Given the description of an element on the screen output the (x, y) to click on. 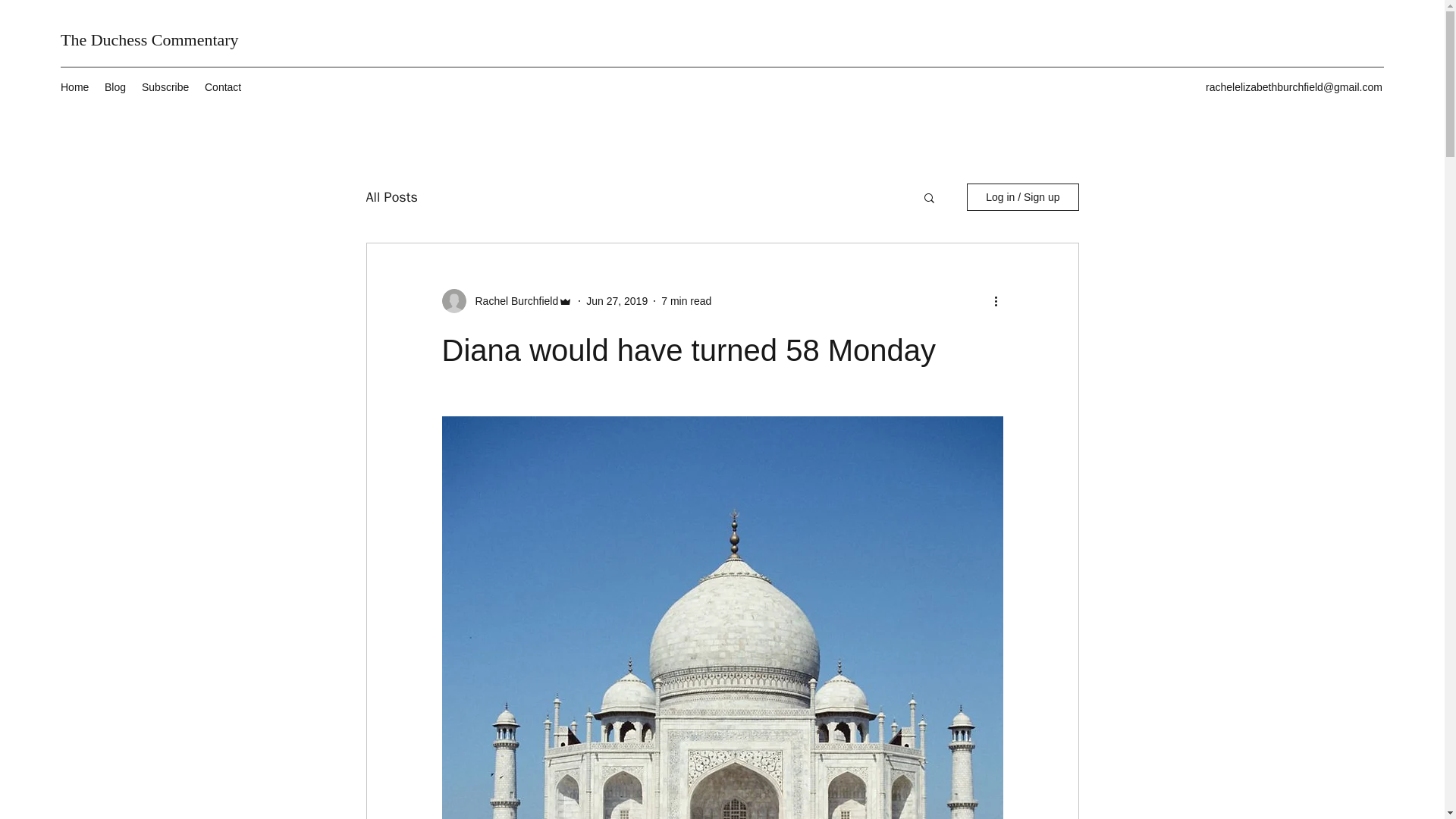
Blog (115, 87)
7 min read (686, 300)
Contact (223, 87)
Home (74, 87)
Jun 27, 2019 (616, 300)
All Posts (390, 197)
Subscribe (164, 87)
Rachel Burchfield (511, 301)
